Given the description of an element on the screen output the (x, y) to click on. 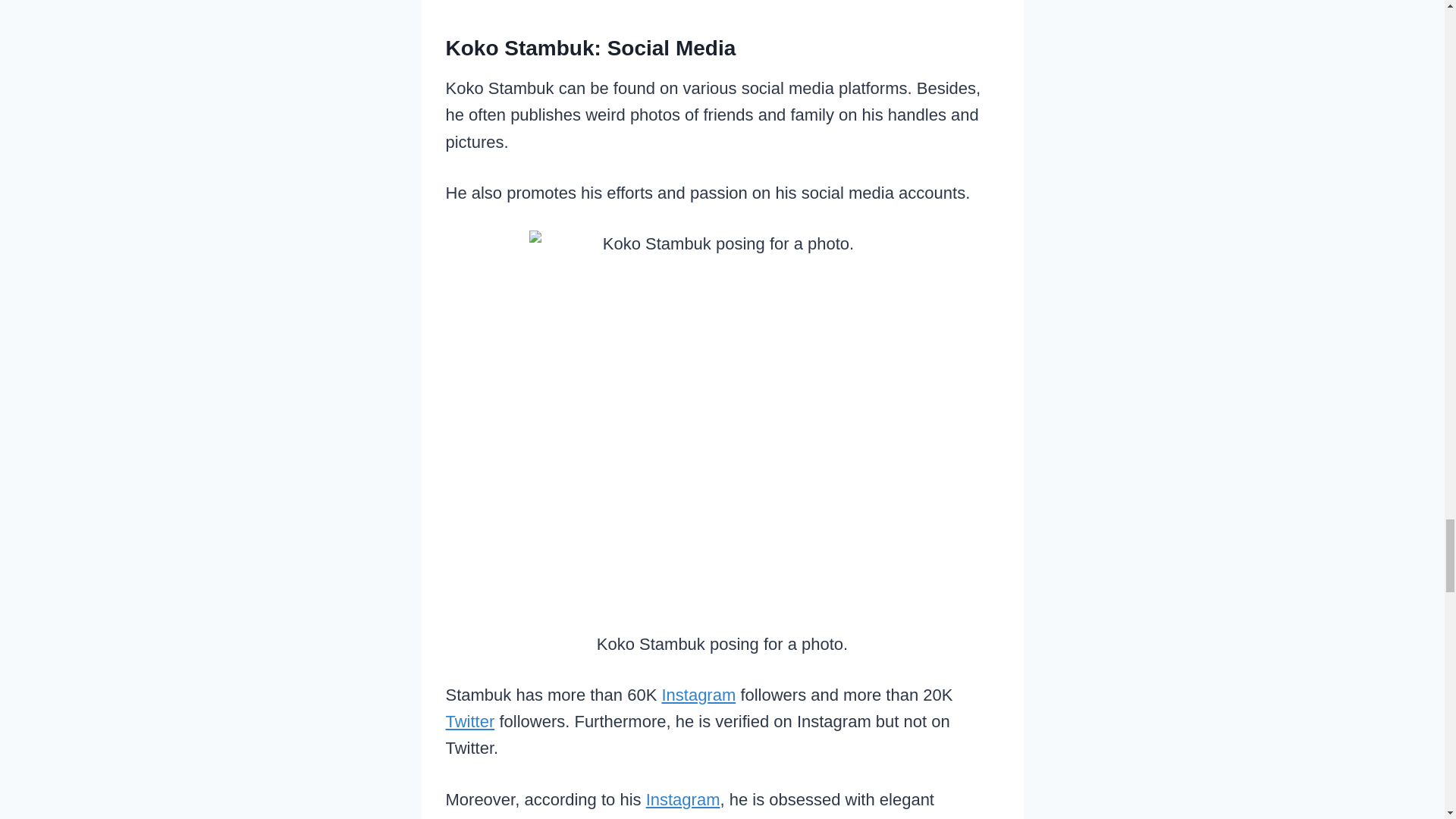
Twitter (470, 721)
Instagram (683, 799)
Instagram (698, 694)
